Given the description of an element on the screen output the (x, y) to click on. 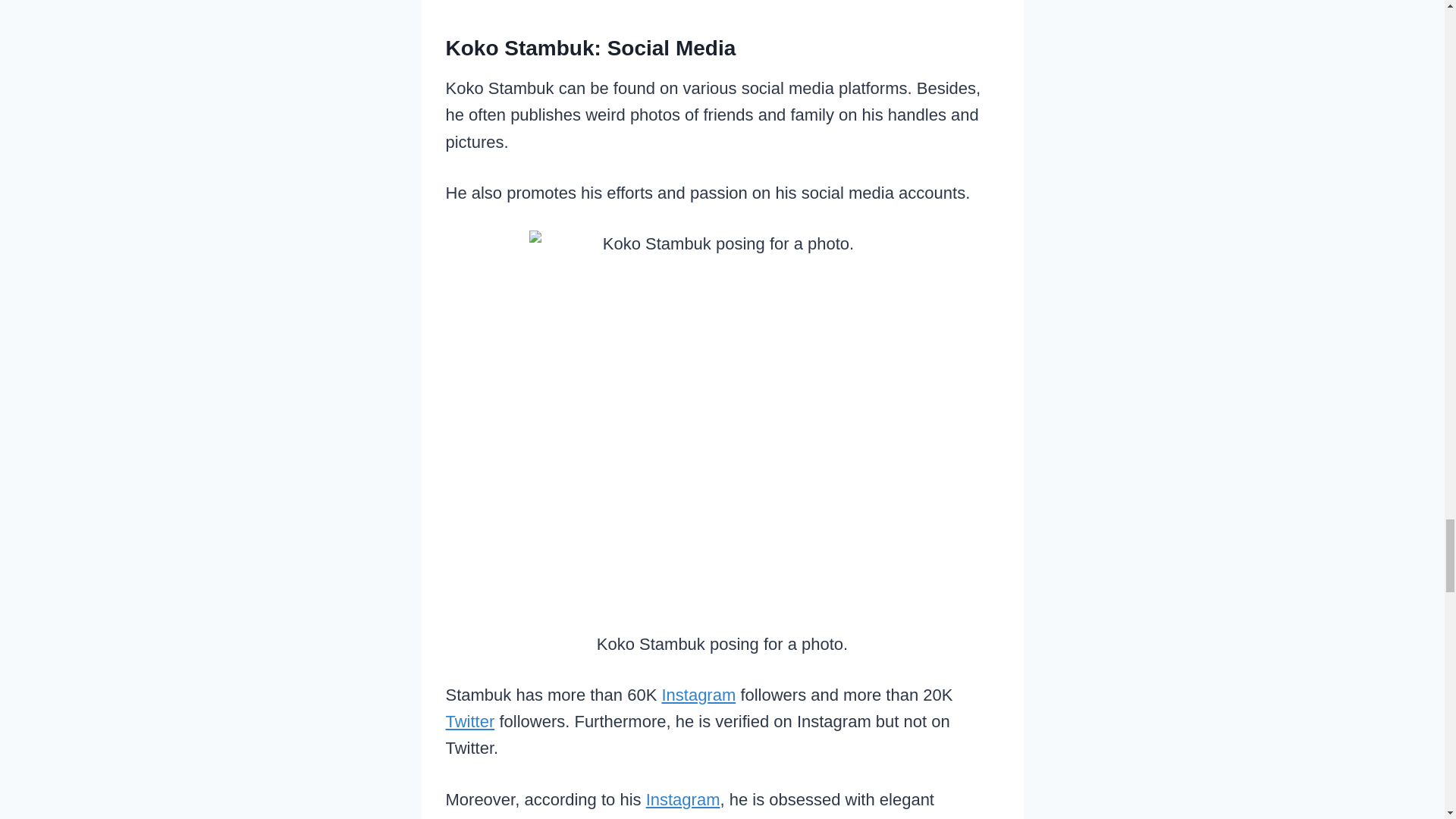
Twitter (470, 721)
Instagram (683, 799)
Instagram (698, 694)
